Given the description of an element on the screen output the (x, y) to click on. 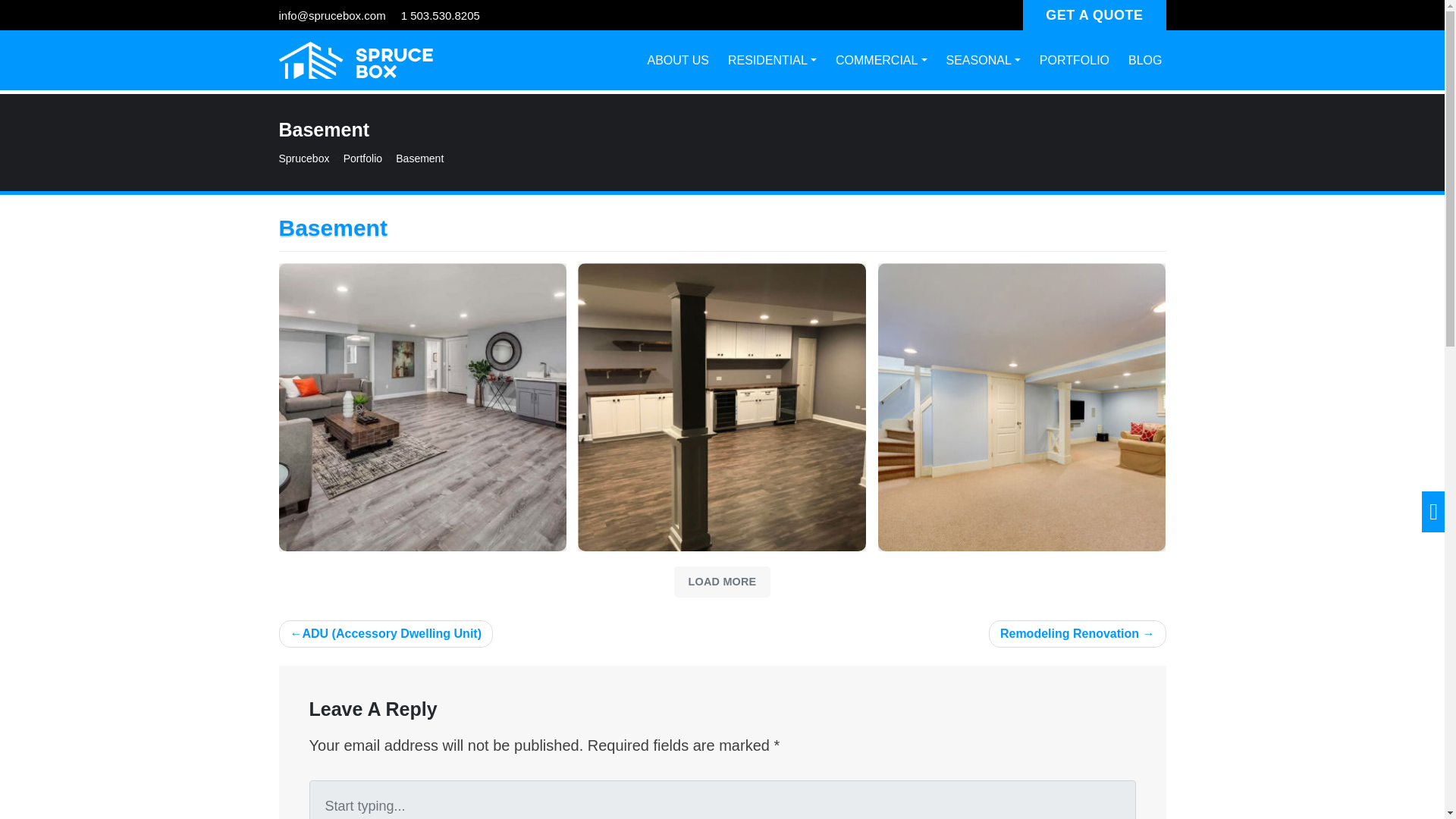
SEASONAL (983, 60)
RESIDENTIAL (772, 60)
Portfolio (362, 158)
GET A QUOTE (1094, 15)
About Us (678, 60)
ABOUT US (678, 60)
Sprucebox (304, 158)
Residential (772, 60)
LOAD MORE (722, 581)
Commercial (881, 60)
1 503.530.8205 (440, 15)
PORTFOLIO (1074, 60)
BLOG (1145, 60)
COMMERCIAL (881, 60)
Remodeling Renovation (1077, 633)
